Given the description of an element on the screen output the (x, y) to click on. 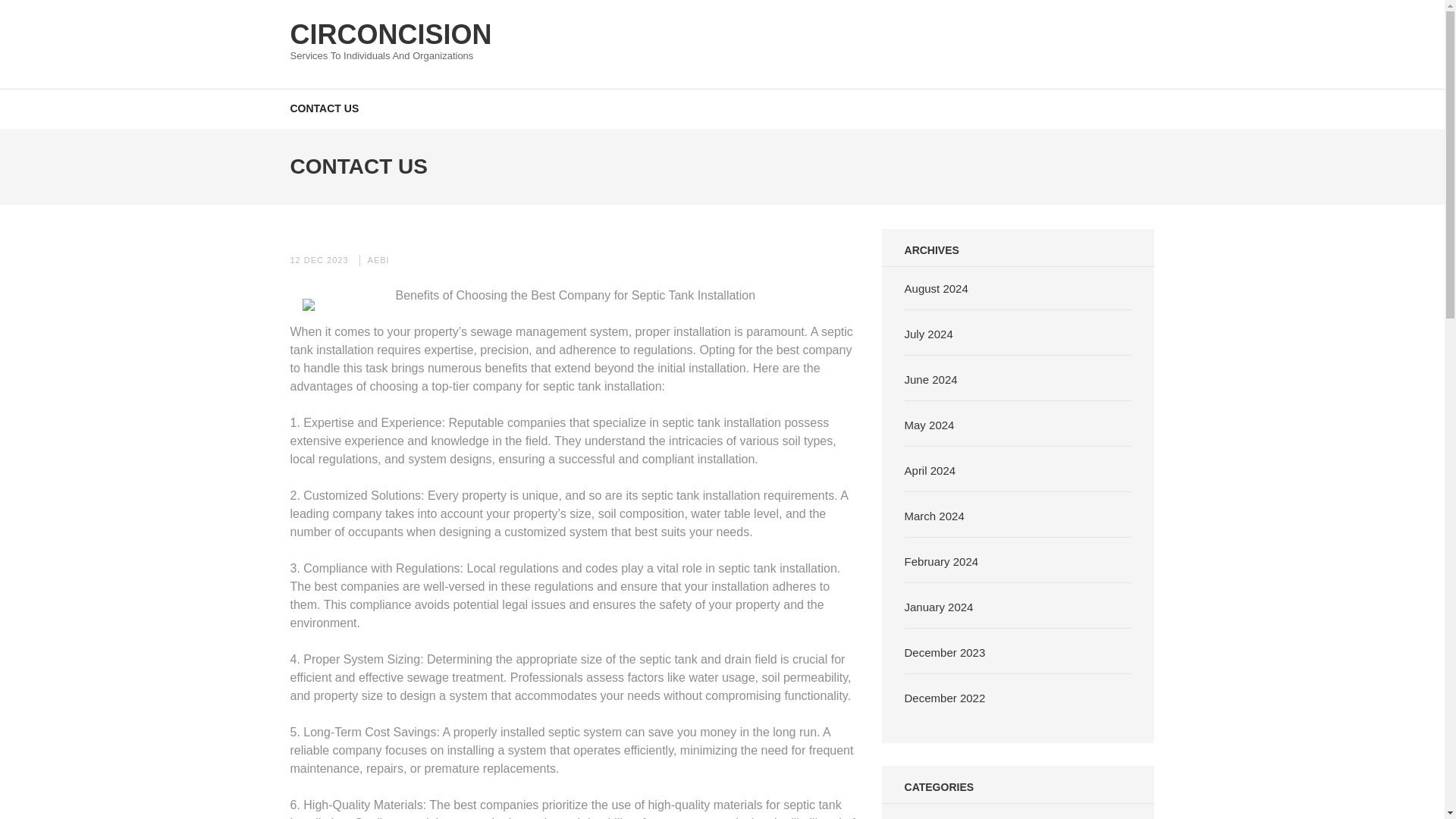
12 DEC 2023 (318, 258)
March 2024 (933, 515)
July 2024 (928, 333)
January 2024 (939, 606)
April 2024 (930, 470)
CIRCONCISION (390, 33)
June 2024 (931, 379)
May 2024 (929, 424)
CONTACT US (323, 108)
December 2022 (944, 697)
